Given the description of an element on the screen output the (x, y) to click on. 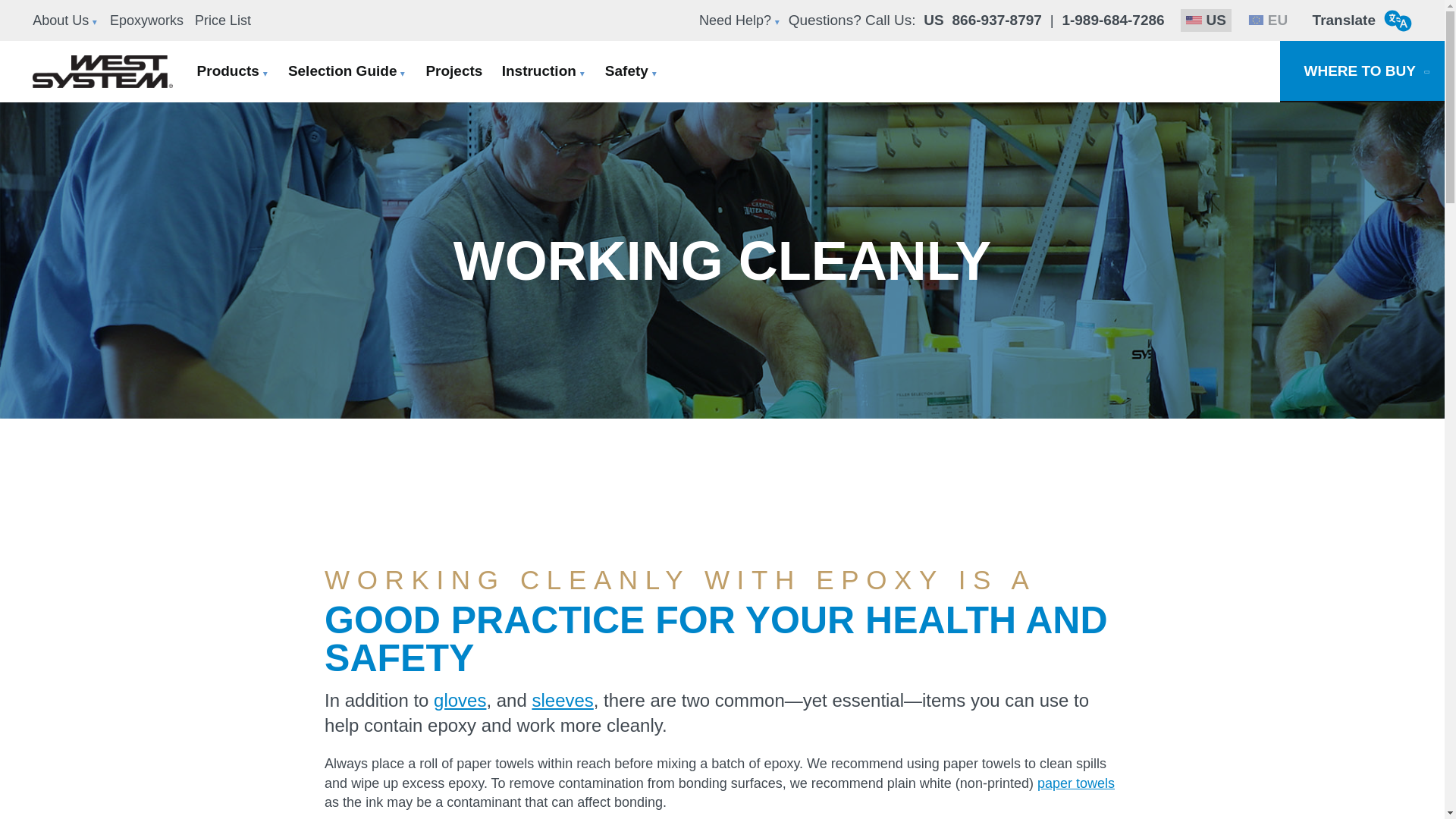
Instruction (544, 71)
1-989-684-7286 (1112, 20)
EU (1267, 20)
Need Help? (743, 20)
Selection Guide (347, 71)
Epoxyworks (150, 20)
Projects (453, 71)
Products (232, 71)
US (1205, 20)
WEST SYSTEM (110, 71)
